Given the description of an element on the screen output the (x, y) to click on. 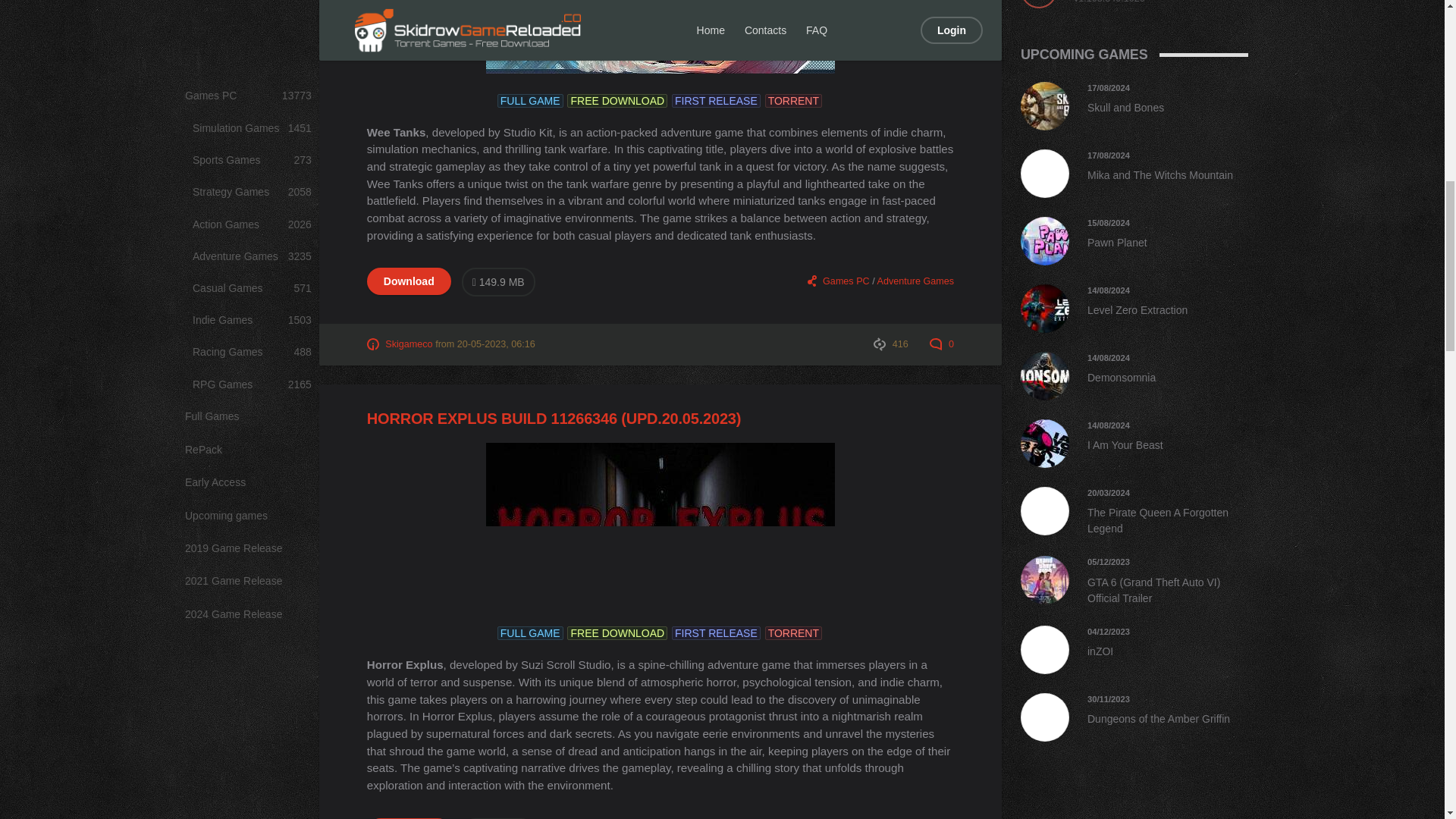
Views: 416 (890, 344)
Comments: 0 (941, 344)
Download: Wee Tanks (408, 280)
Wee Tanks Game Free Download Torrent (660, 36)
